Given the description of an element on the screen output the (x, y) to click on. 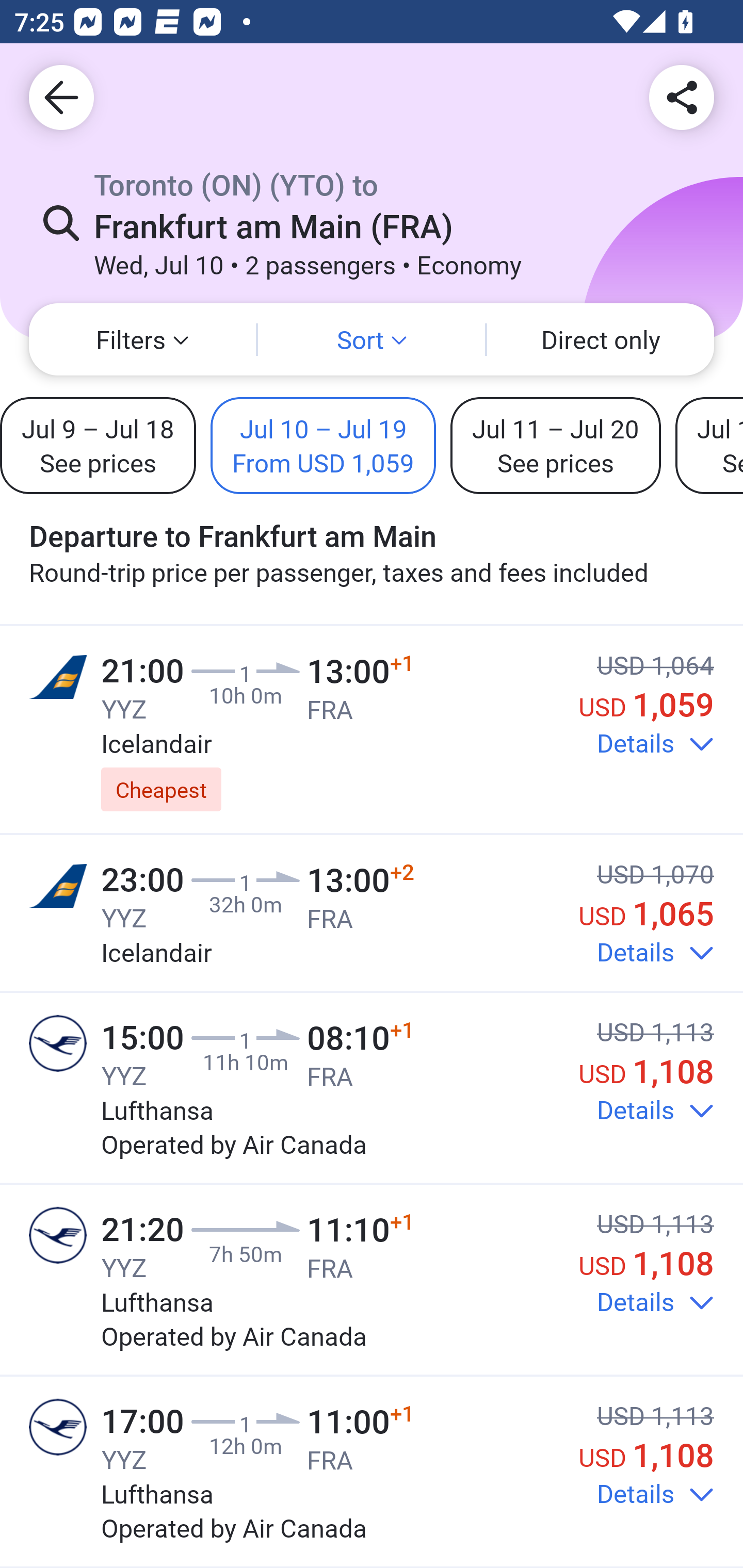
Filters (141, 339)
Sort (371, 339)
Direct only (600, 339)
Jul 9 – Jul 18 See prices (98, 444)
Jul 10 – Jul 19 From USD 1,059 (323, 444)
Jul 11 – Jul 20 See prices (555, 444)
